Given the description of an element on the screen output the (x, y) to click on. 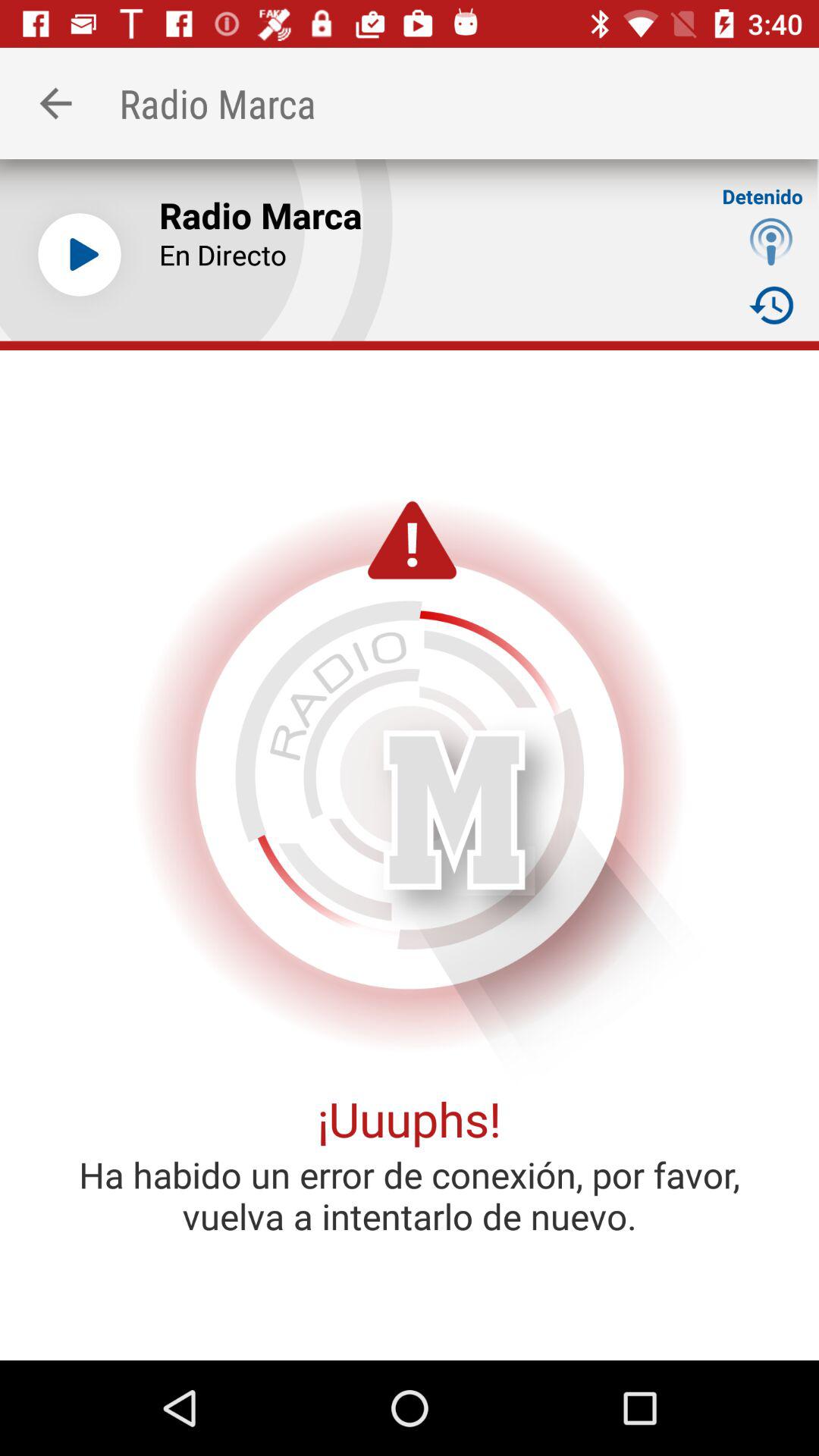
toggle on button (79, 254)
